Given the description of an element on the screen output the (x, y) to click on. 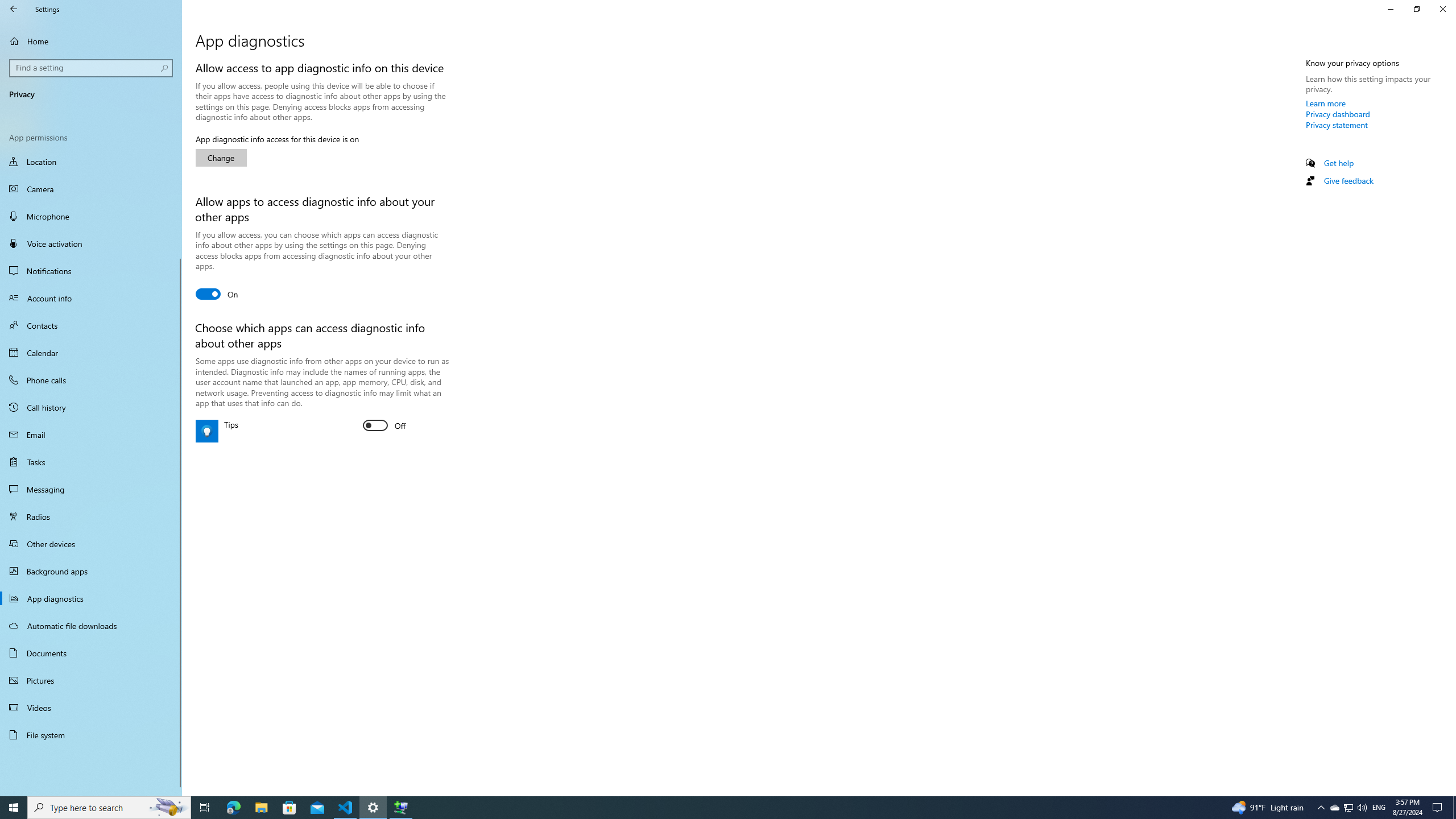
Automatic file downloads (91, 625)
Microphone (91, 216)
Notifications (91, 270)
Close Settings (1442, 9)
Documents (91, 652)
Contacts (91, 325)
Radios (91, 515)
Microsoft Store (289, 807)
Microsoft Edge (233, 807)
Allow apps to access diagnostic info about your other apps (216, 294)
Tray Input Indicator - English (United States) (1378, 807)
Get help (1338, 162)
Tasks (91, 461)
Phone calls (91, 379)
